Given the description of an element on the screen output the (x, y) to click on. 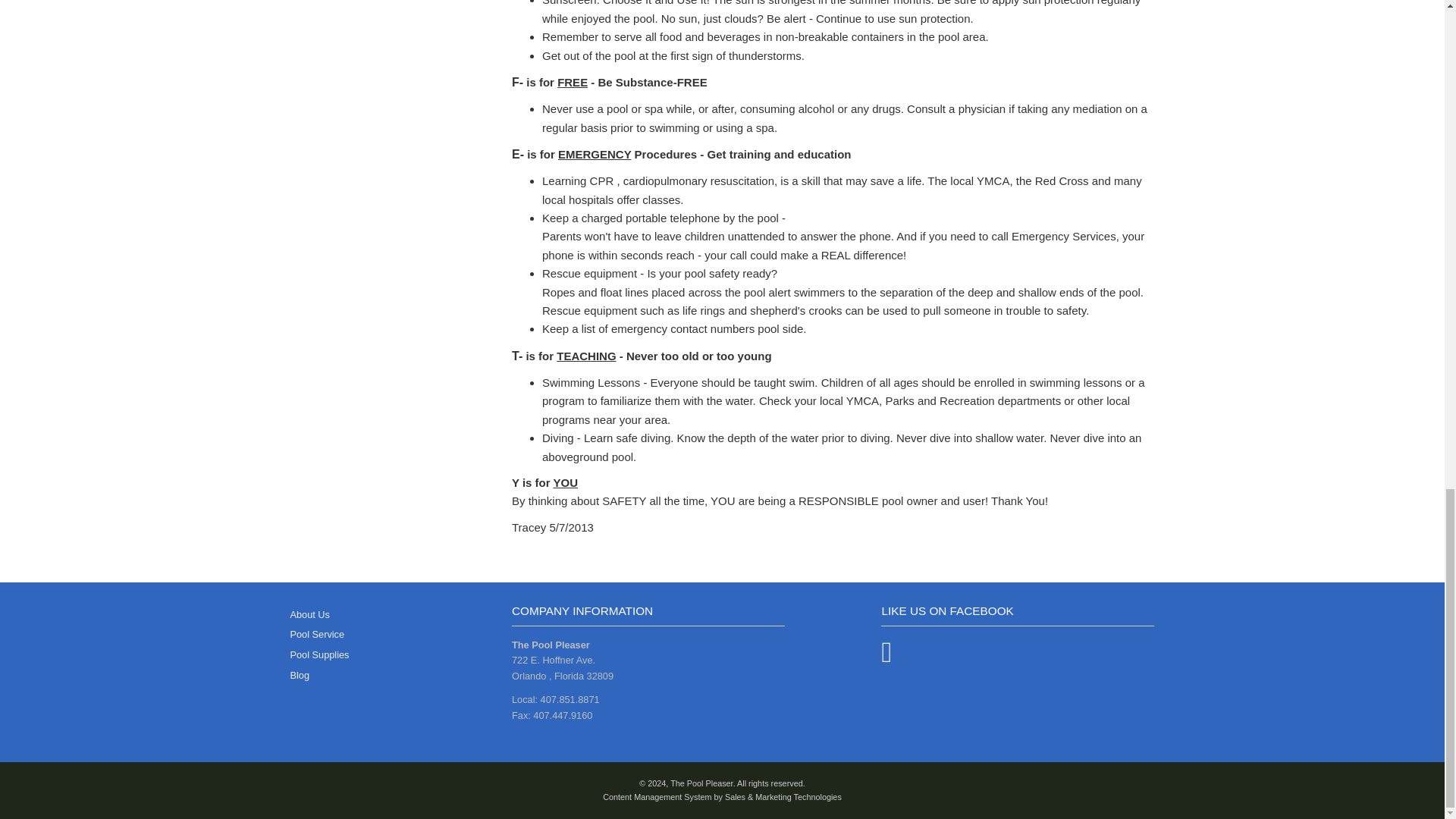
SMT on facebook (885, 658)
About Us (309, 614)
